Given the description of an element on the screen output the (x, y) to click on. 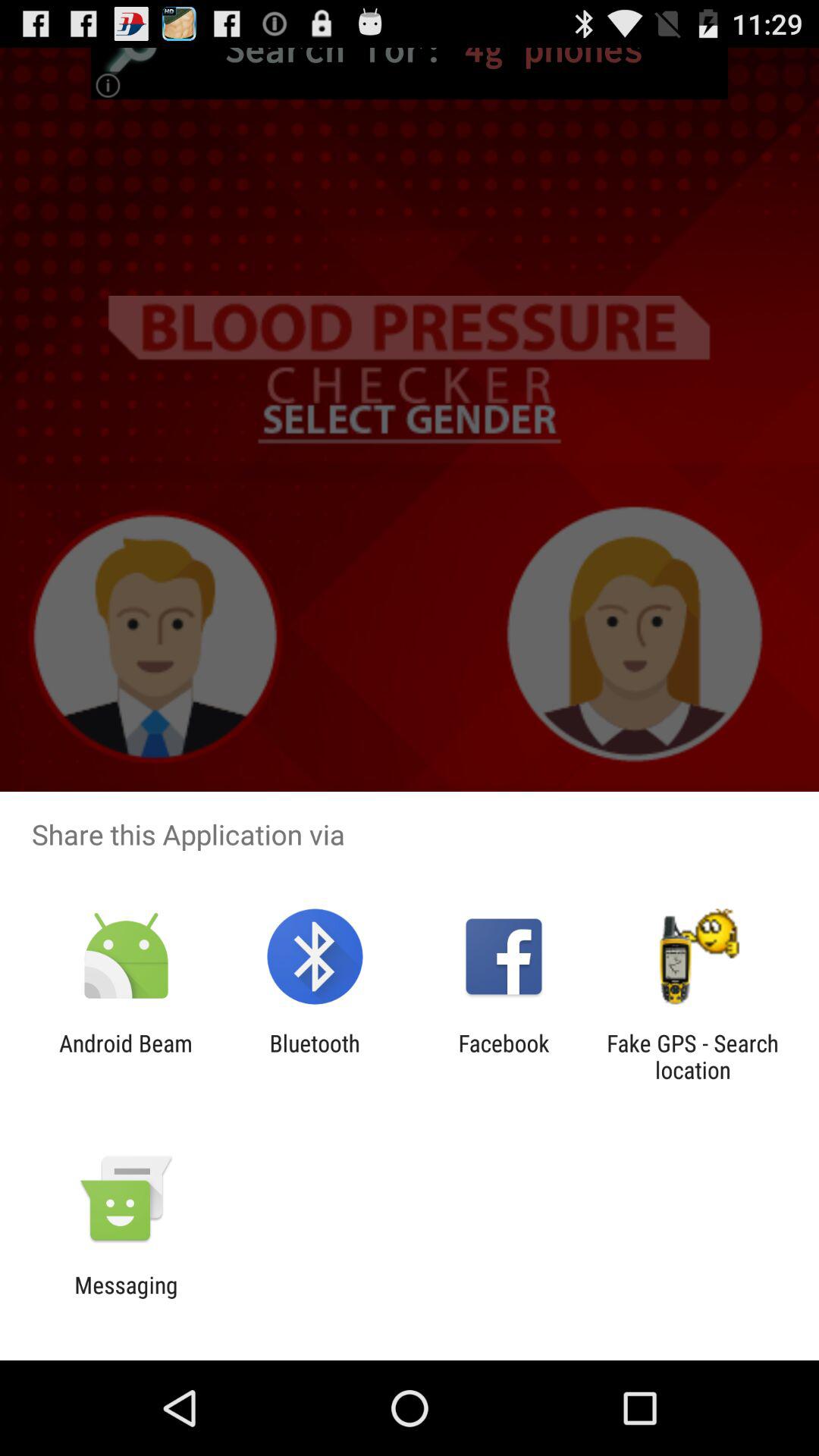
tap item next to the bluetooth icon (125, 1056)
